Given the description of an element on the screen output the (x, y) to click on. 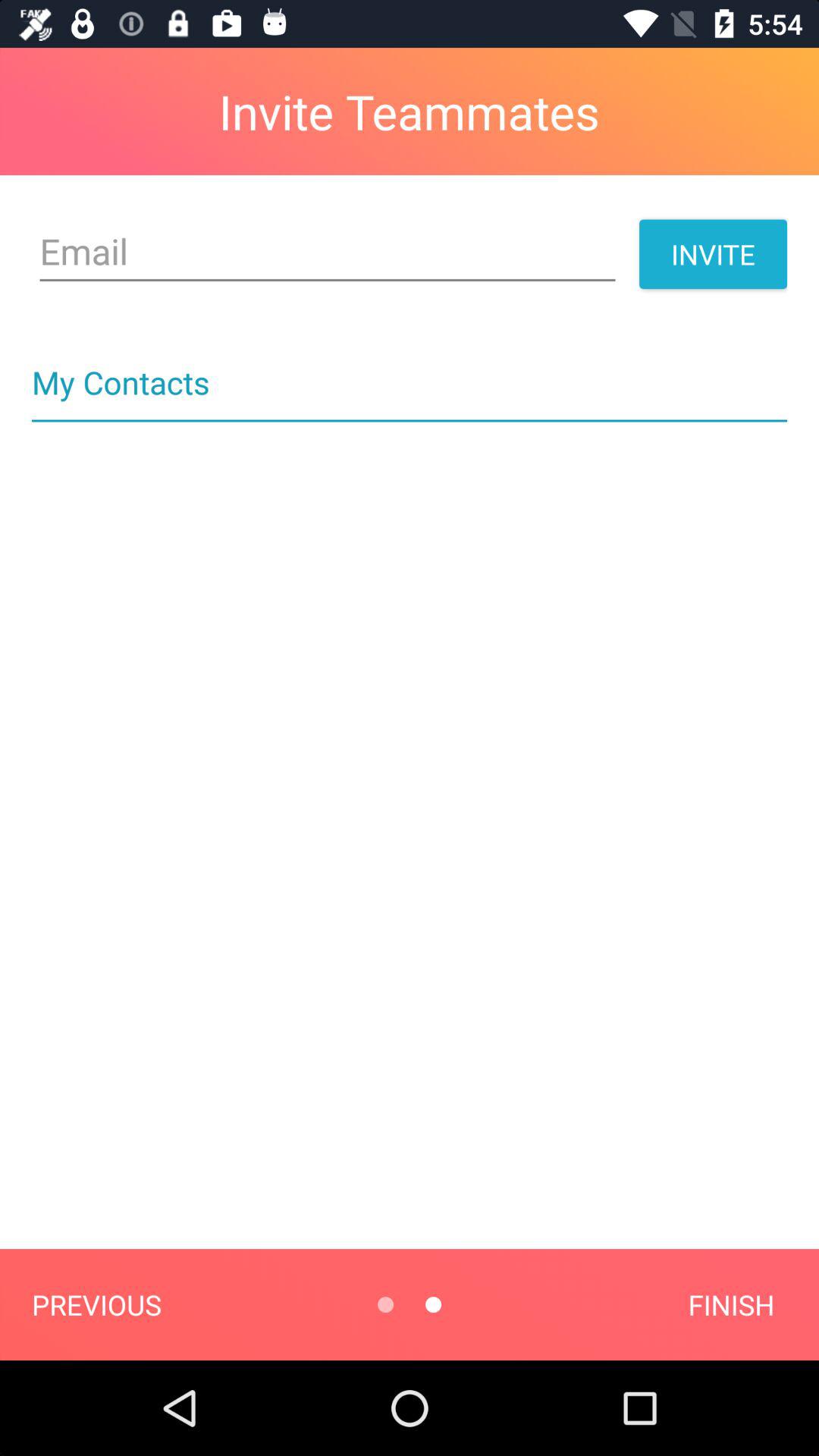
swipe to the finish icon (731, 1304)
